Given the description of an element on the screen output the (x, y) to click on. 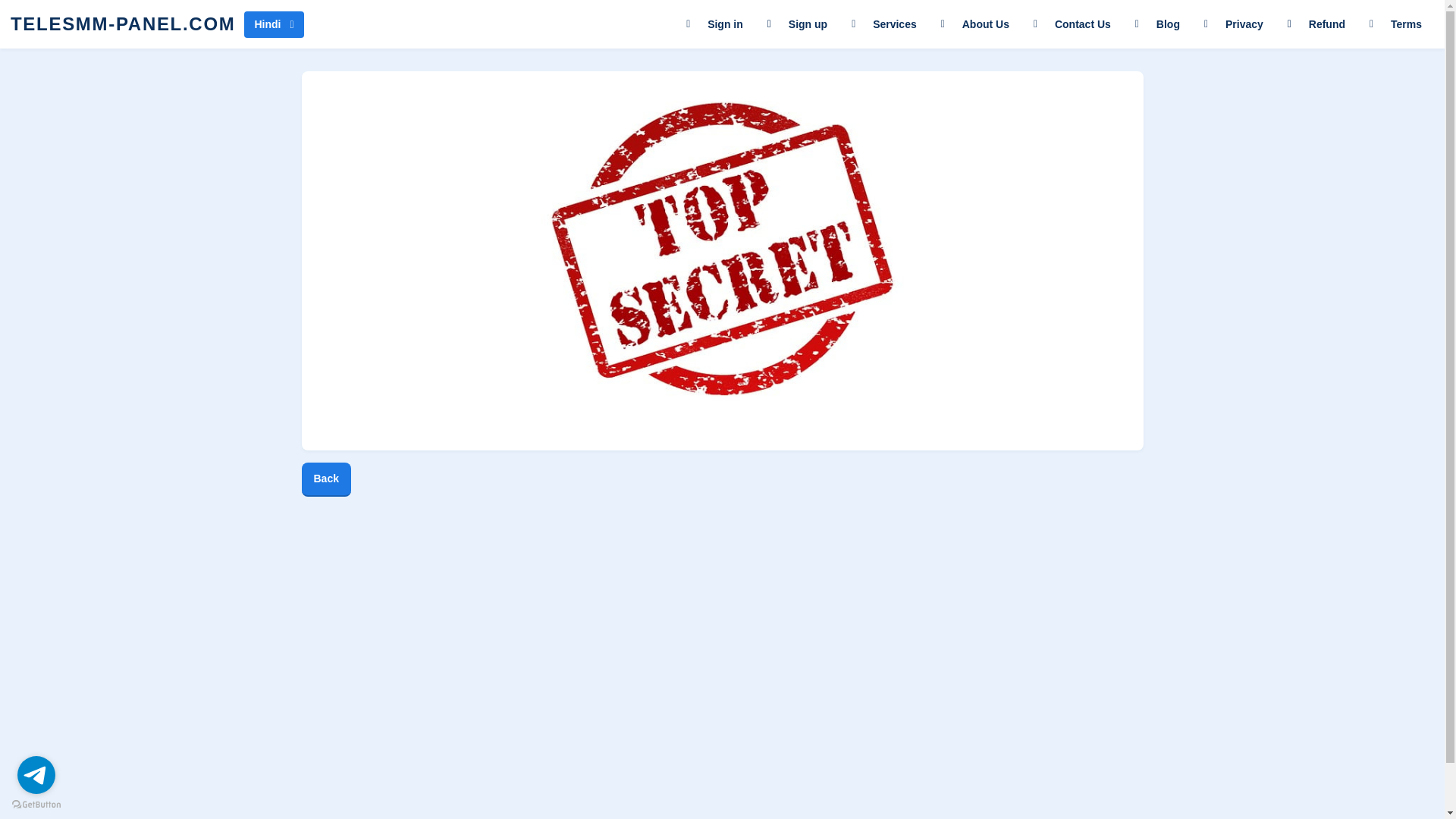
Blog (1157, 24)
Privacy (1233, 24)
Contact Us (1072, 24)
Sign in (714, 24)
Back (325, 479)
About Us (975, 24)
Refund (1315, 24)
Sign up (797, 24)
Terms (1395, 24)
Services (884, 24)
